Given the description of an element on the screen output the (x, y) to click on. 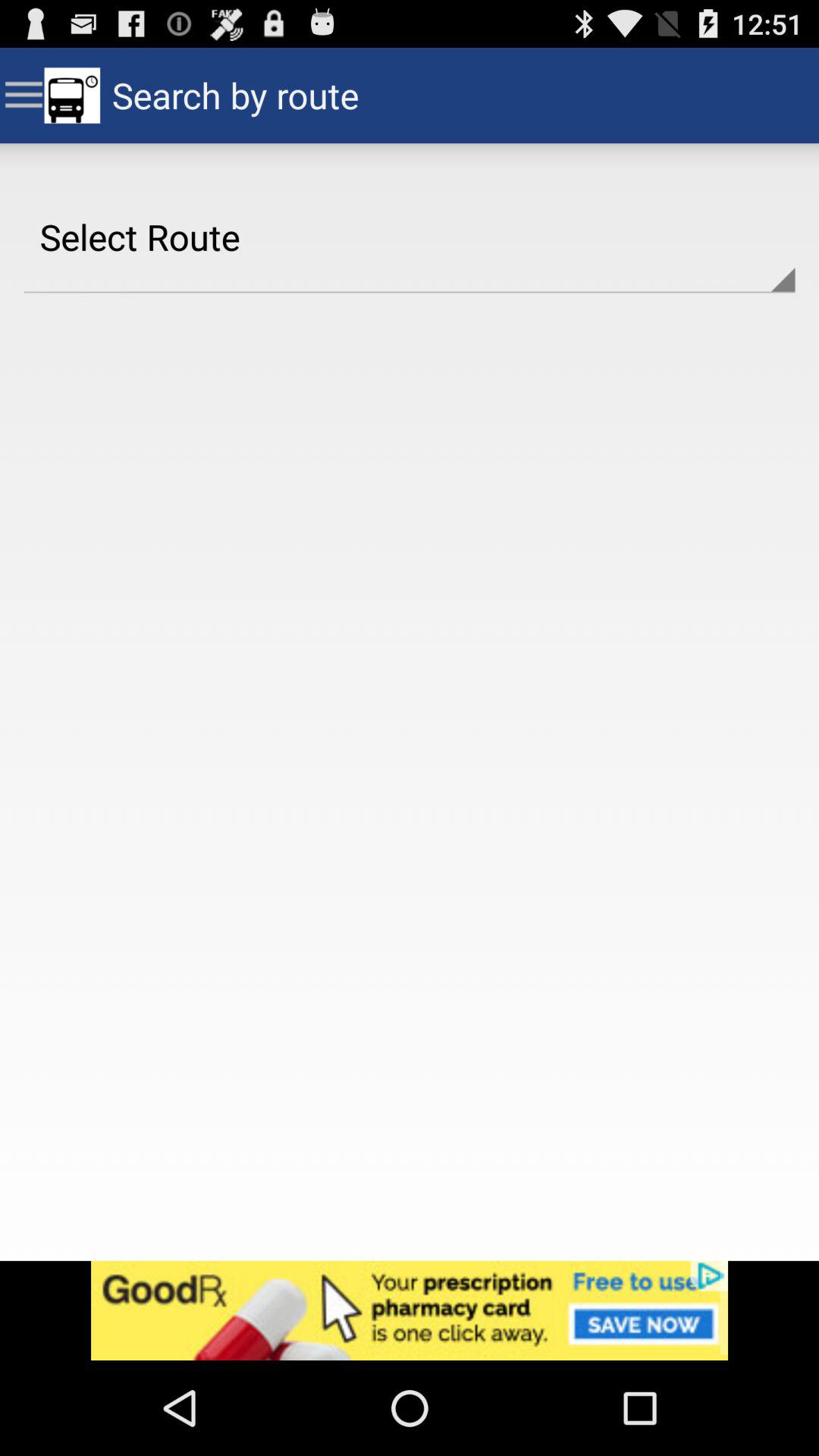
advertisement banner (409, 1310)
